Given the description of an element on the screen output the (x, y) to click on. 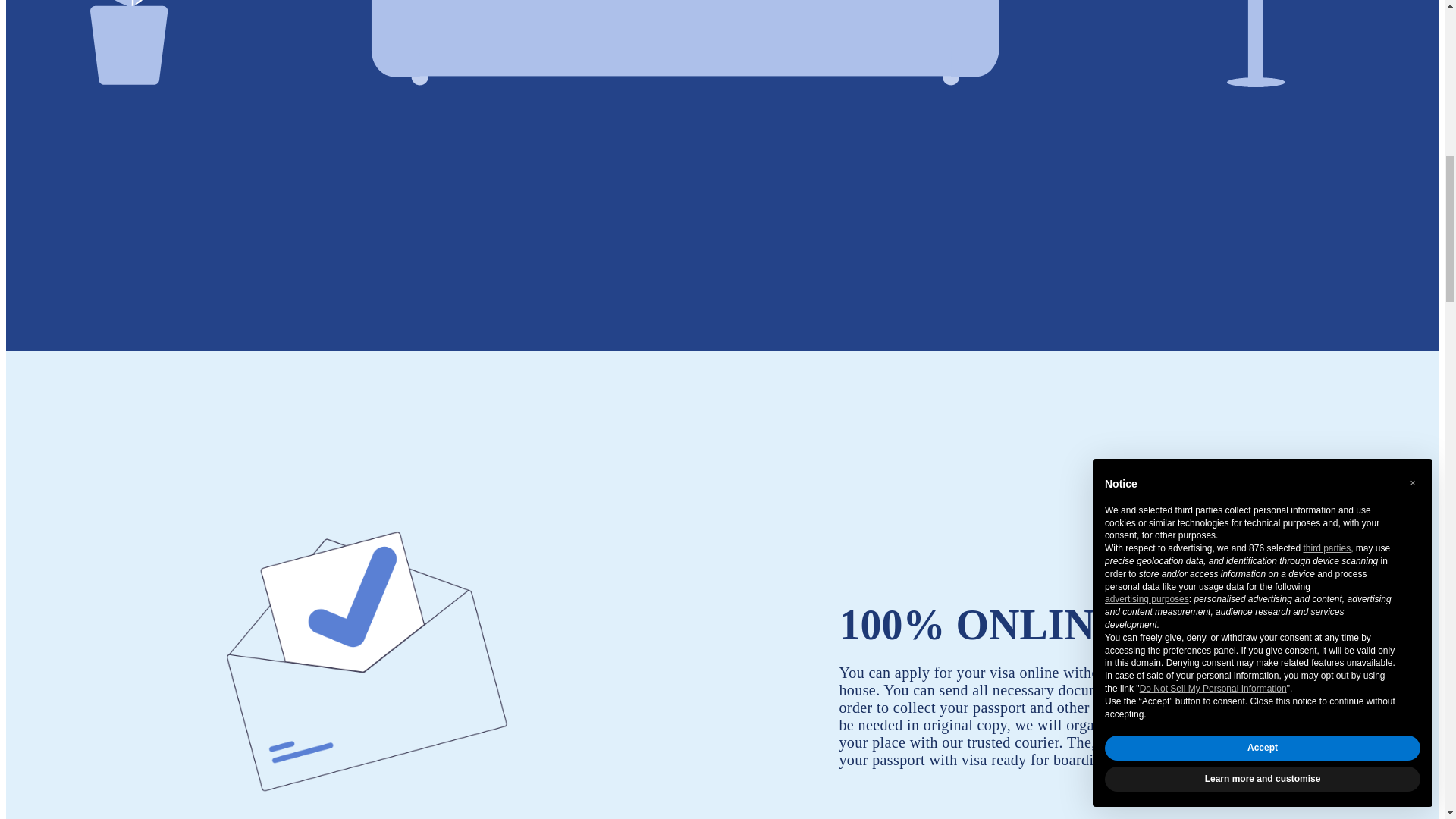
image intro (710, 43)
image intro (357, 649)
